Given the description of an element on the screen output the (x, y) to click on. 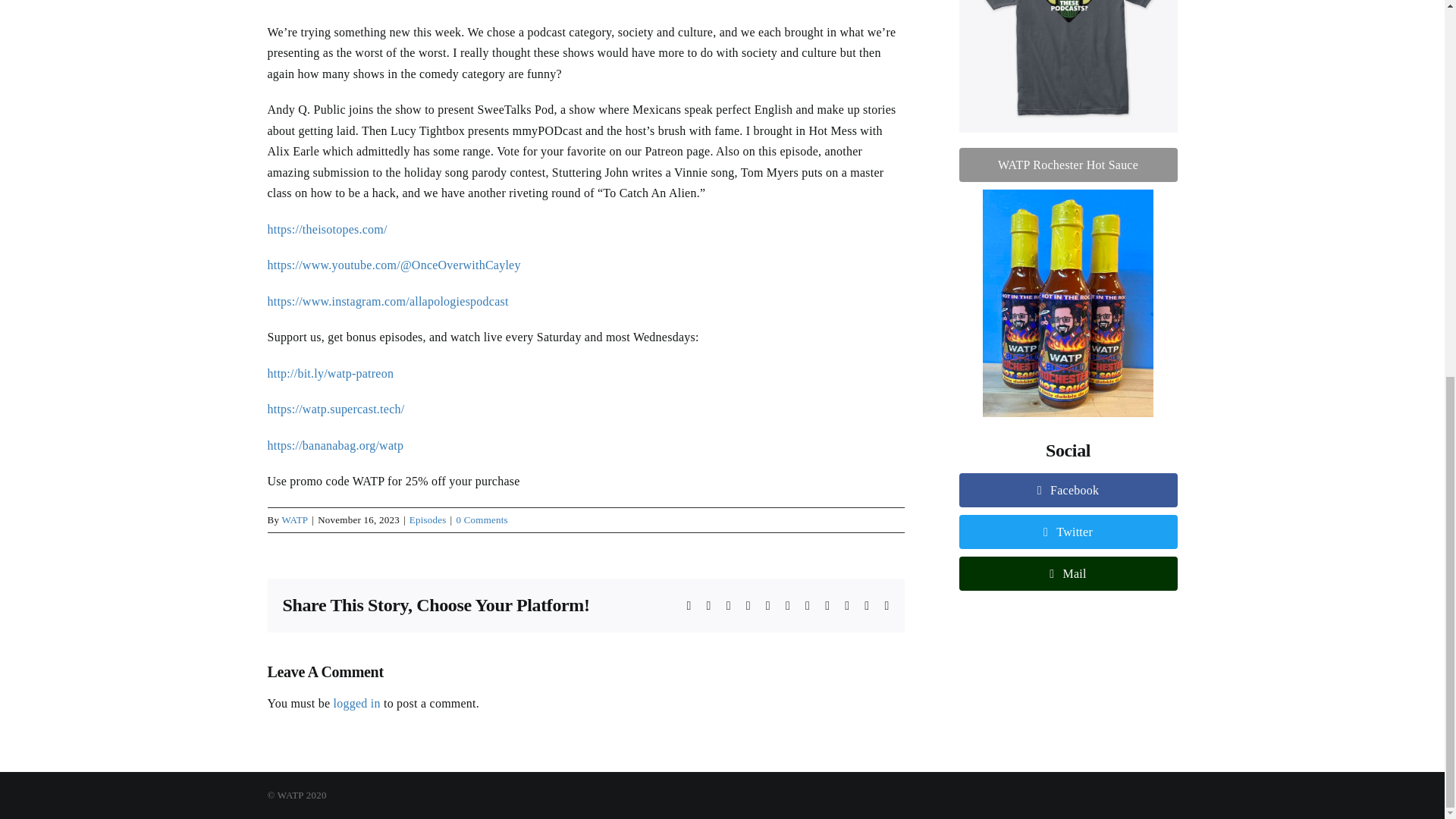
WATP Rochester Hot Sauce (1067, 290)
Buy our merch (1067, 74)
Posts by WATP (1067, 519)
